Given the description of an element on the screen output the (x, y) to click on. 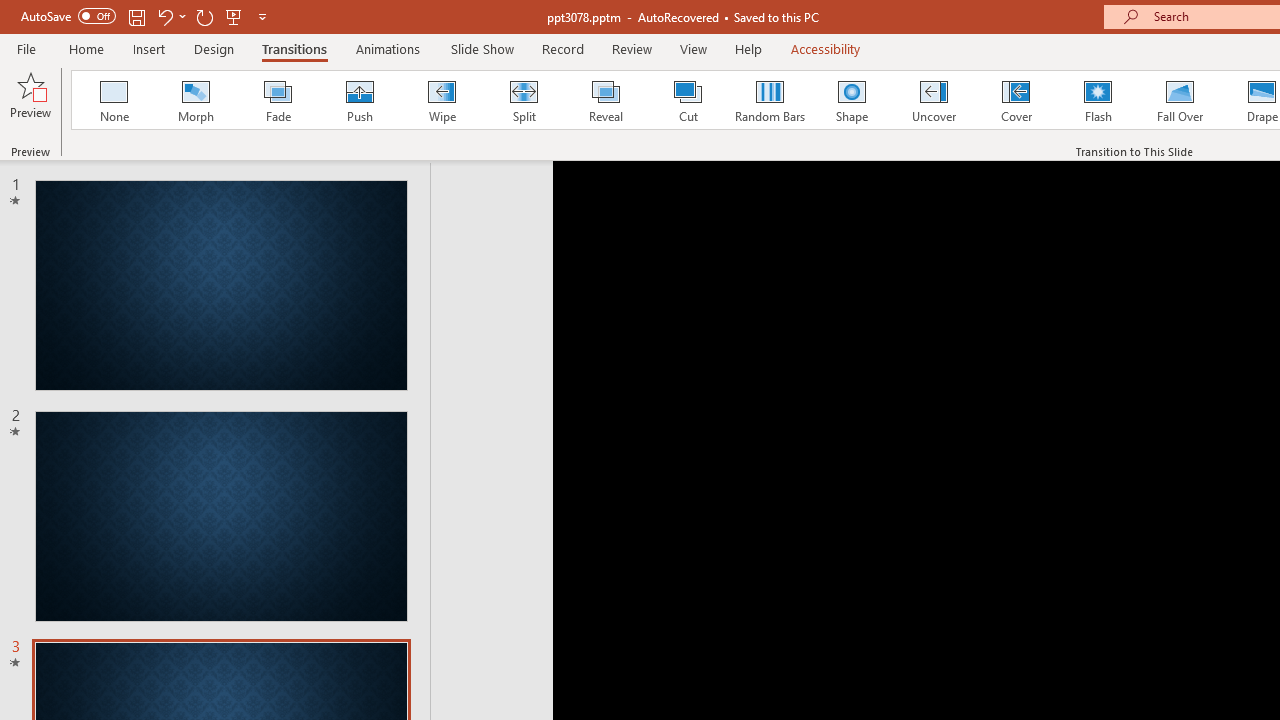
Morph (195, 100)
Push (359, 100)
